Given the description of an element on the screen output the (x, y) to click on. 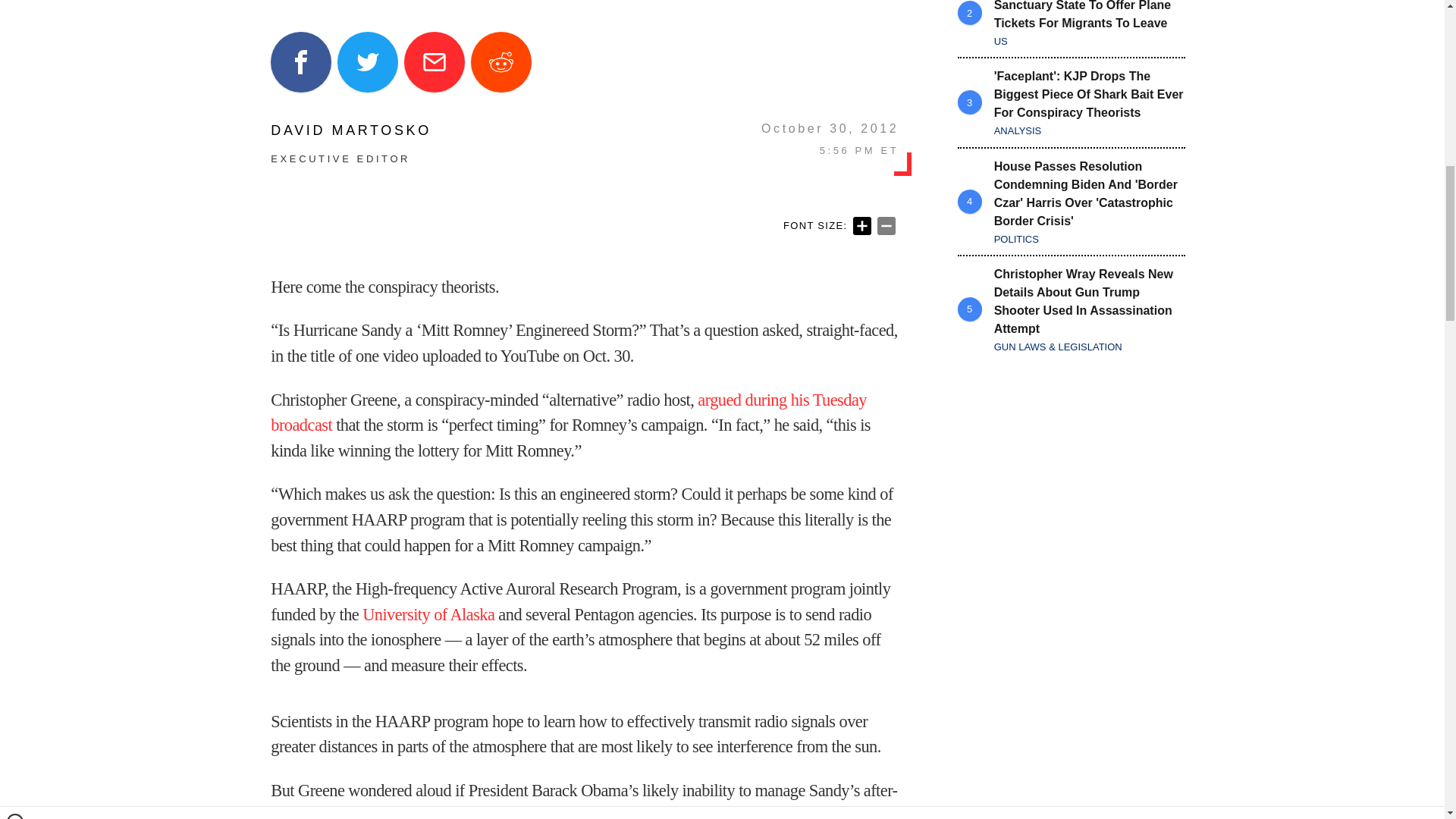
argued during his Tuesday broadcast (568, 412)
University of Alaska (428, 614)
View More Articles By David Martosko (350, 130)
Close window (14, 6)
DAVID MARTOSKO (350, 130)
